Given the description of an element on the screen output the (x, y) to click on. 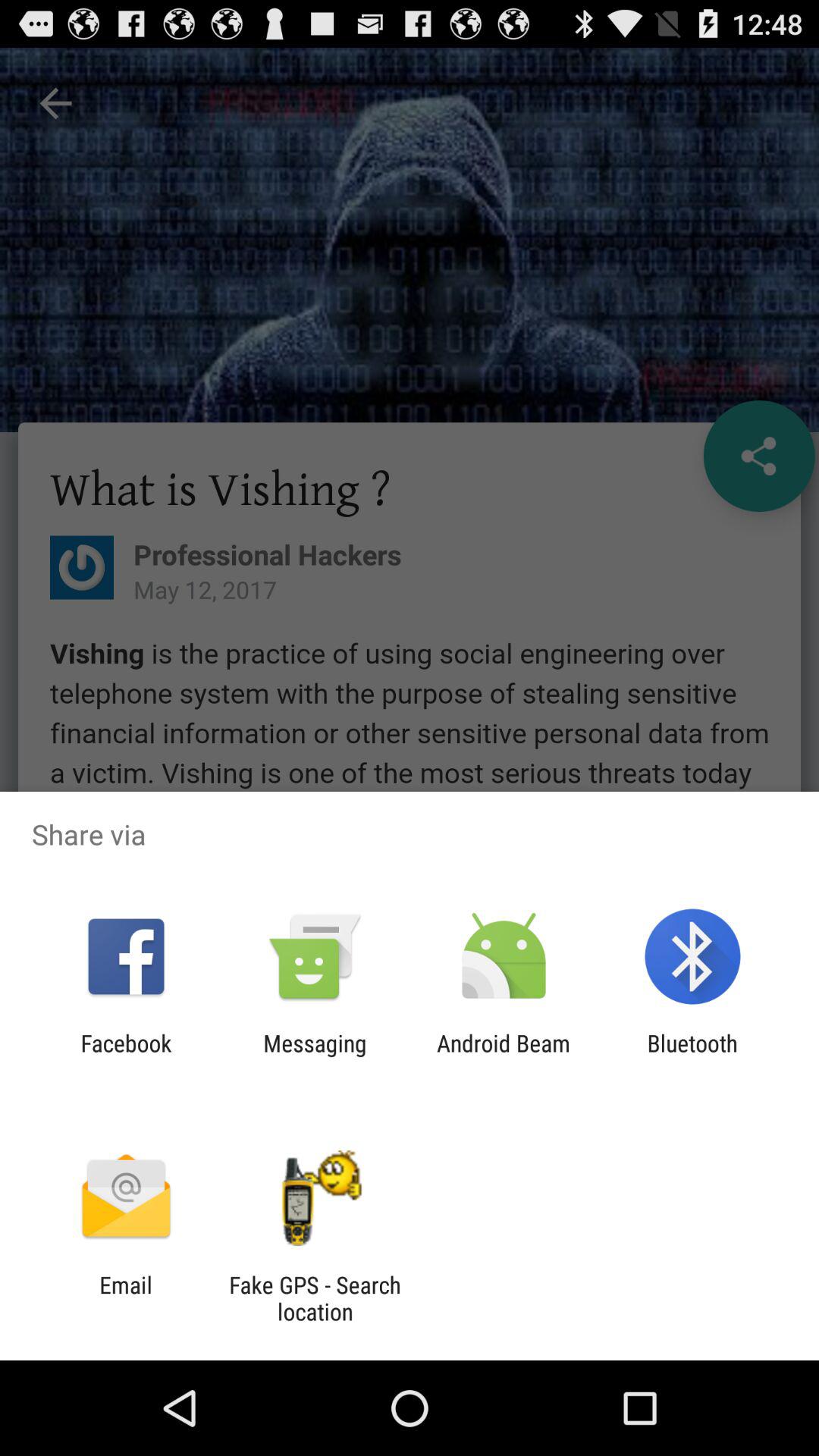
tap item to the left of android beam item (314, 1056)
